Given the description of an element on the screen output the (x, y) to click on. 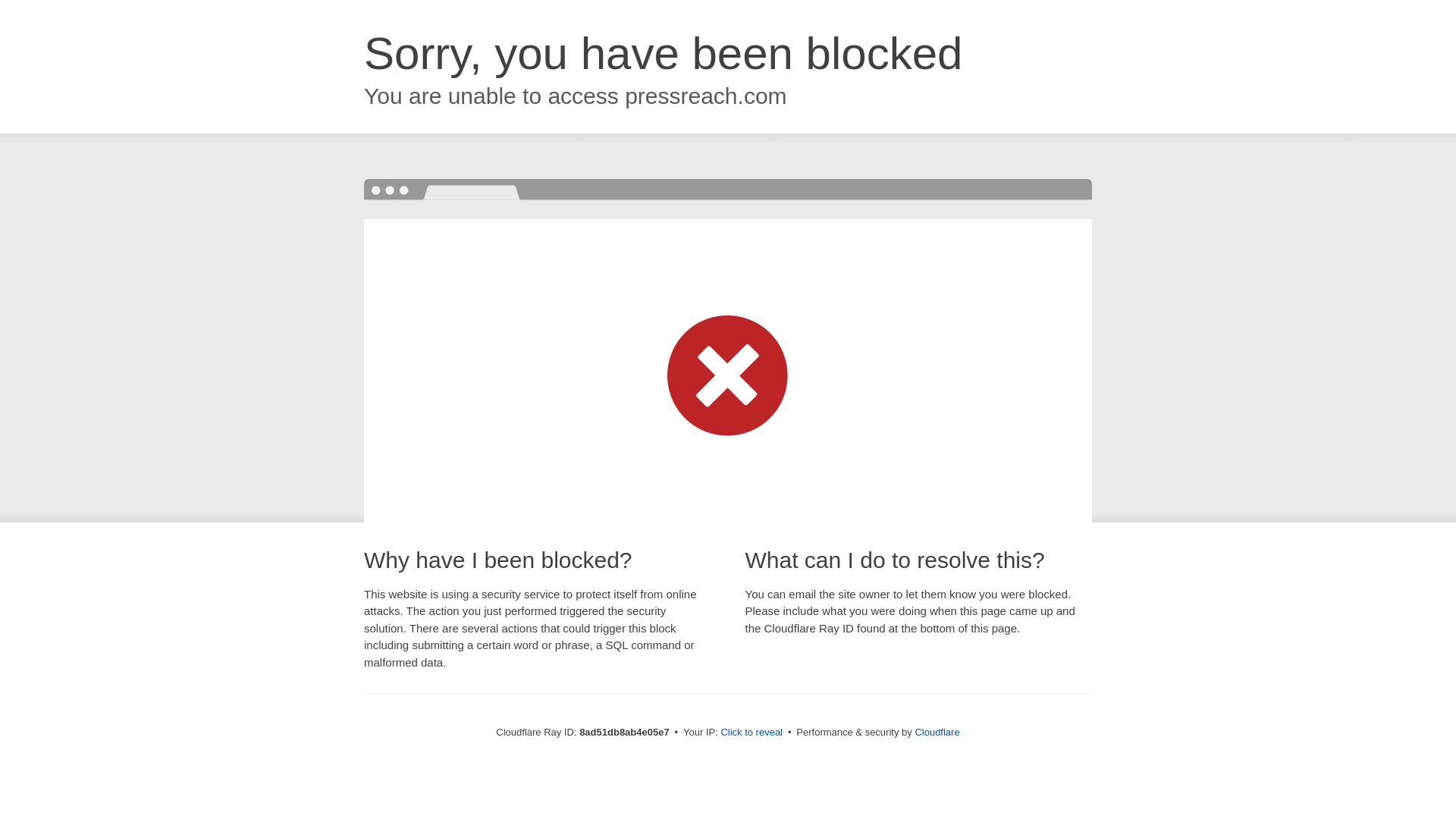
Cloudflare (936, 731)
Click to reveal (751, 732)
